Given the description of an element on the screen output the (x, y) to click on. 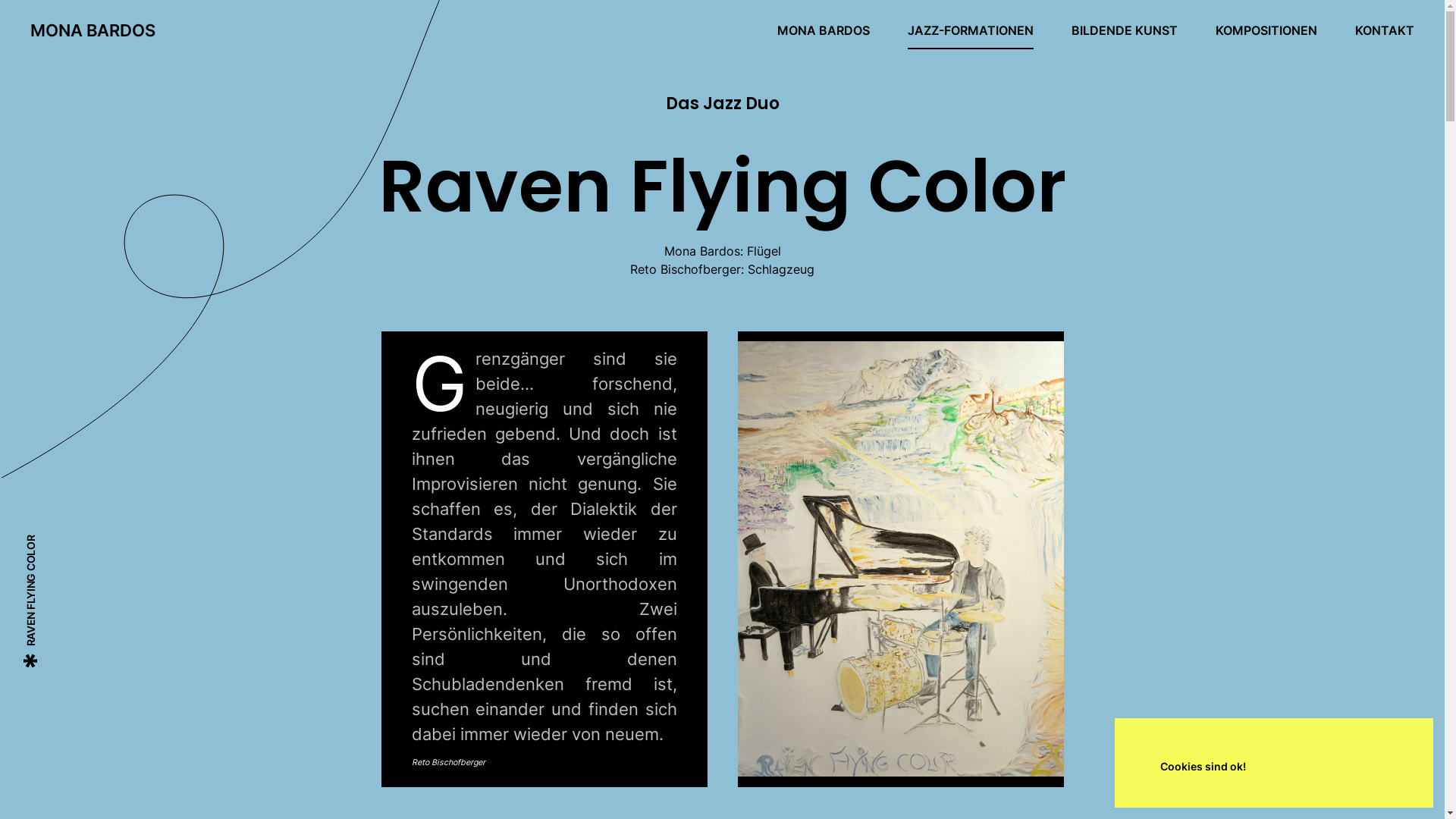
JAZZ-FORMATIONEN Element type: text (970, 30)
Cookies sind ok! Element type: text (1202, 766)
KOMPOSITIONEN Element type: text (1266, 30)
BILDENDE KUNST Element type: text (1124, 30)
KONTAKT Element type: text (1384, 30)
MONA BARDOS Element type: text (92, 30)
MONA BARDOS Element type: text (823, 30)
